Given the description of an element on the screen output the (x, y) to click on. 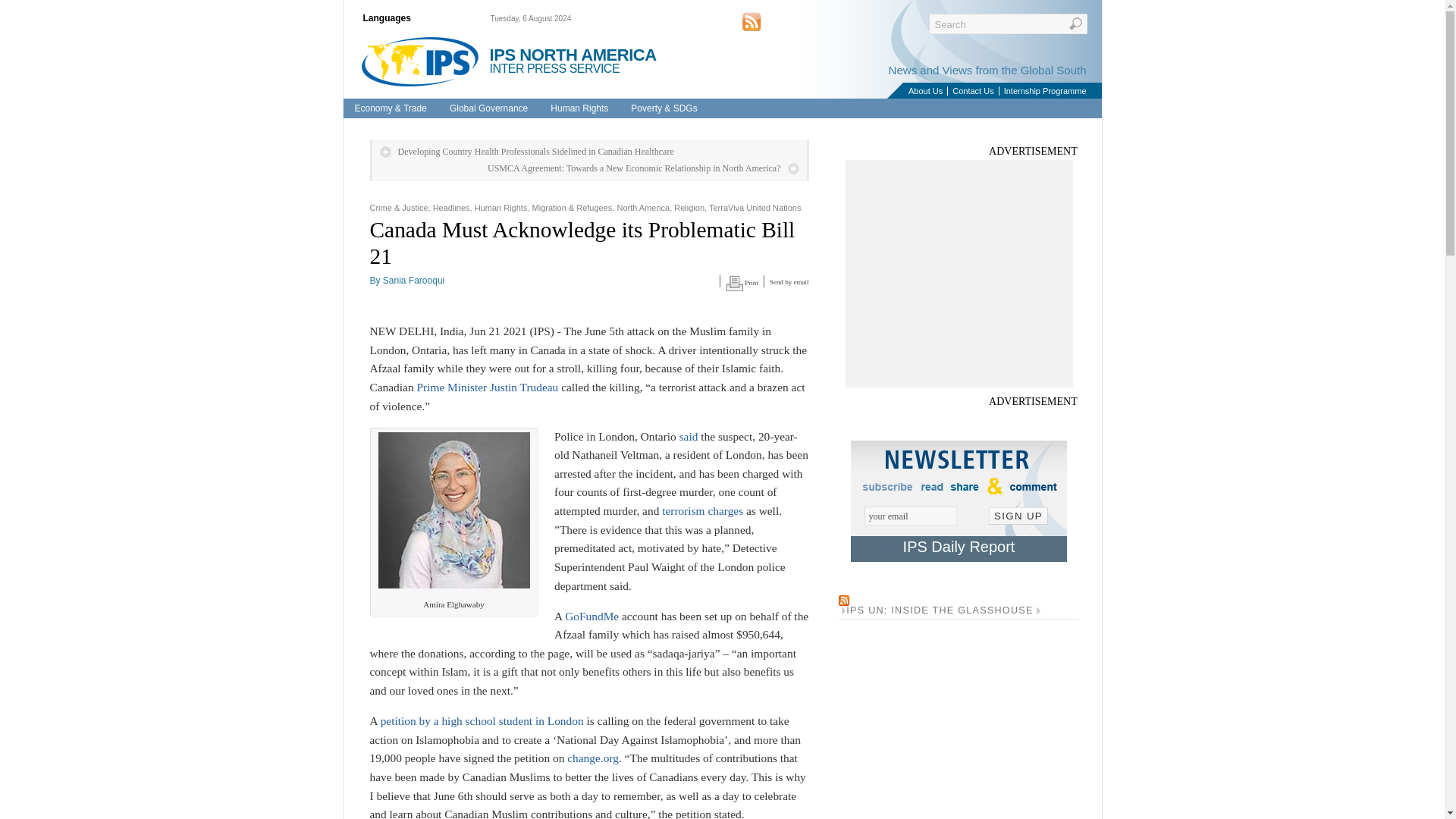
terrorism charges (702, 510)
Human Rights (500, 207)
Internship Programme (1044, 90)
your email (910, 515)
petition by a high school student in London (481, 720)
Contact Us (972, 90)
GoFundMe (591, 615)
Posts by Sania Farooqui (413, 280)
Search (1007, 23)
Religion (689, 207)
Prime Minister Justin Trudeau (486, 386)
INTER PRESS SERVICE (554, 68)
Global Governance (488, 107)
Headlines (451, 207)
